Given the description of an element on the screen output the (x, y) to click on. 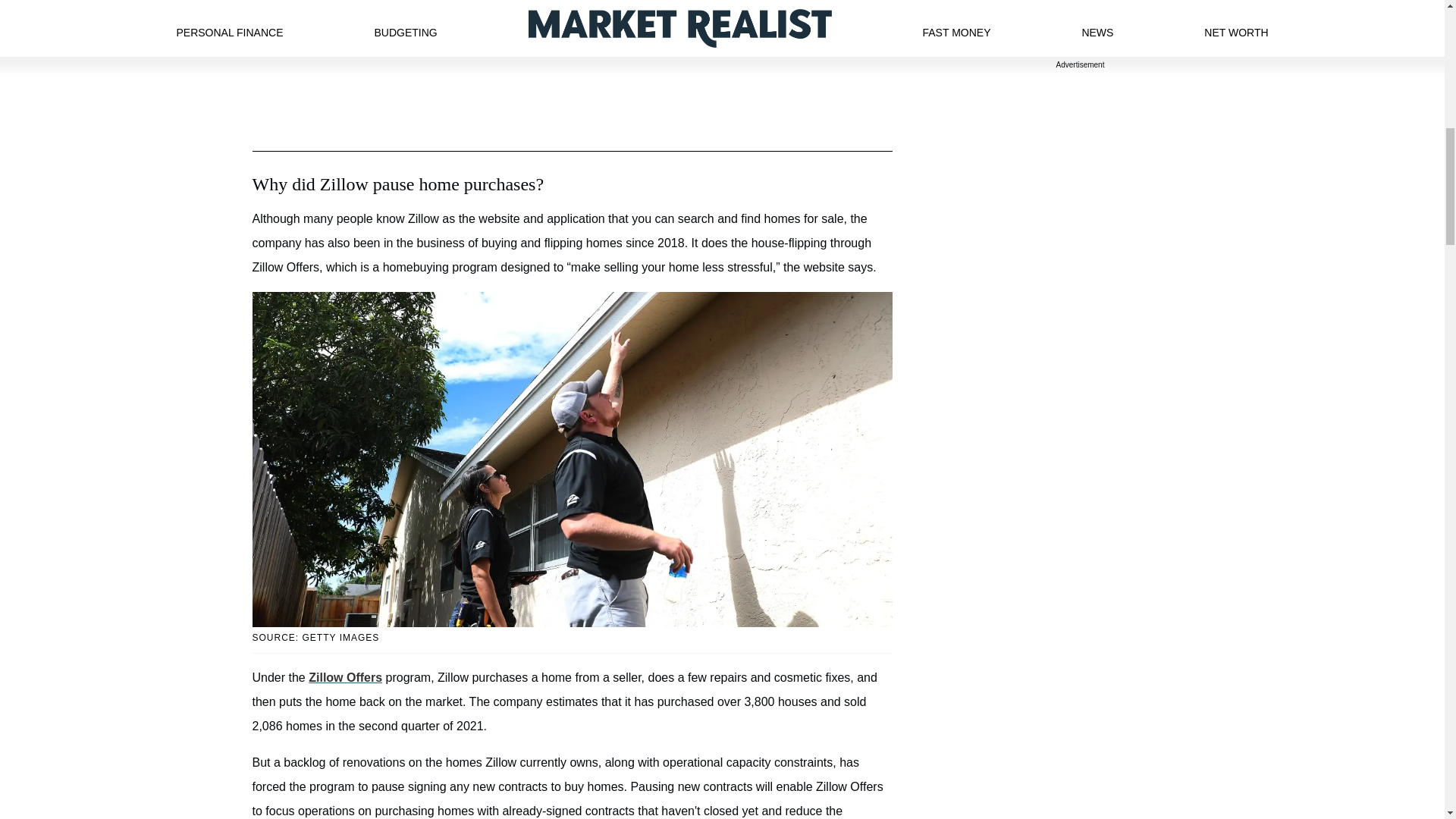
Zillow Offers (344, 676)
